Given the description of an element on the screen output the (x, y) to click on. 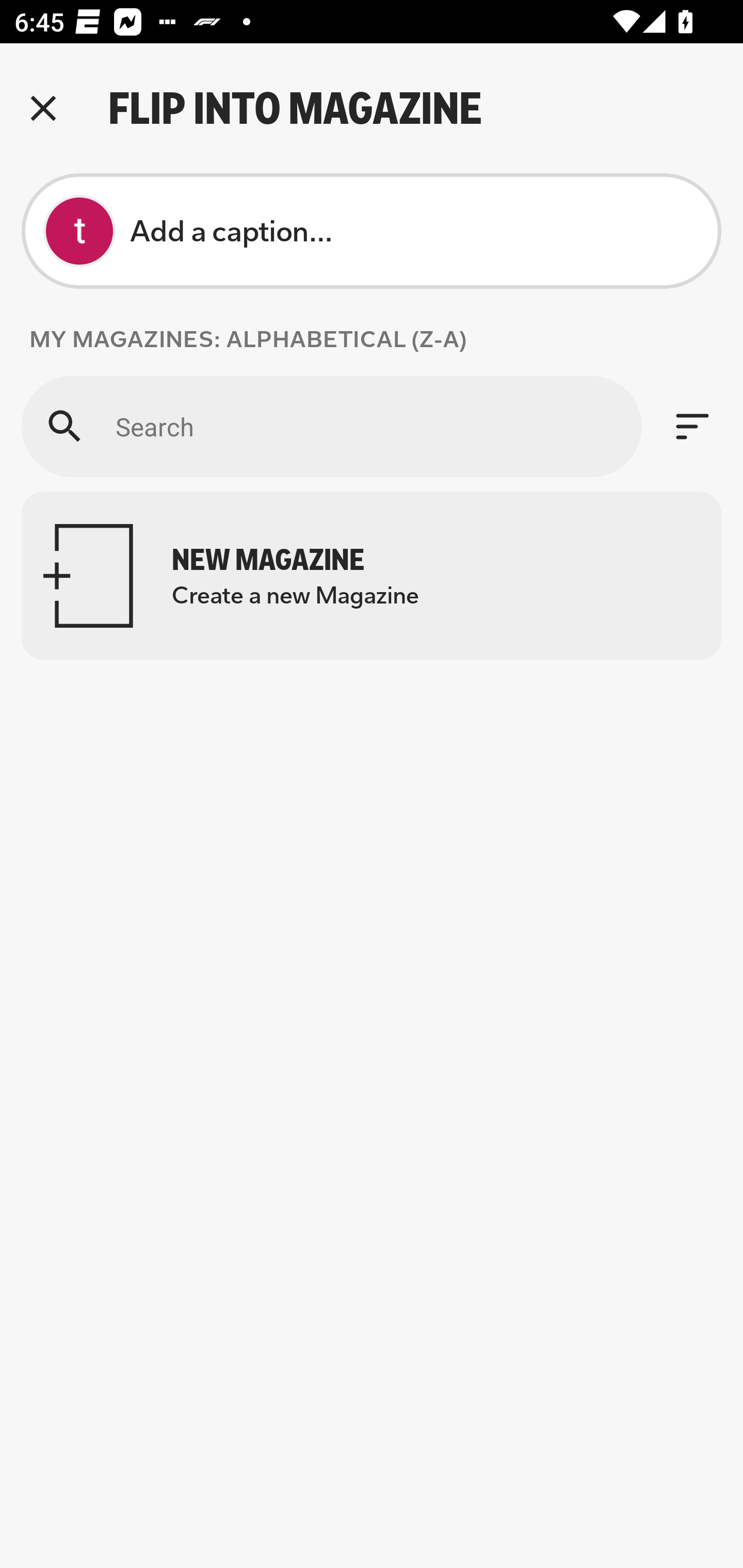
test appium Add a caption… (371, 231)
Search (331, 426)
NEW MAGAZINE Create a new Magazine (371, 575)
